Given the description of an element on the screen output the (x, y) to click on. 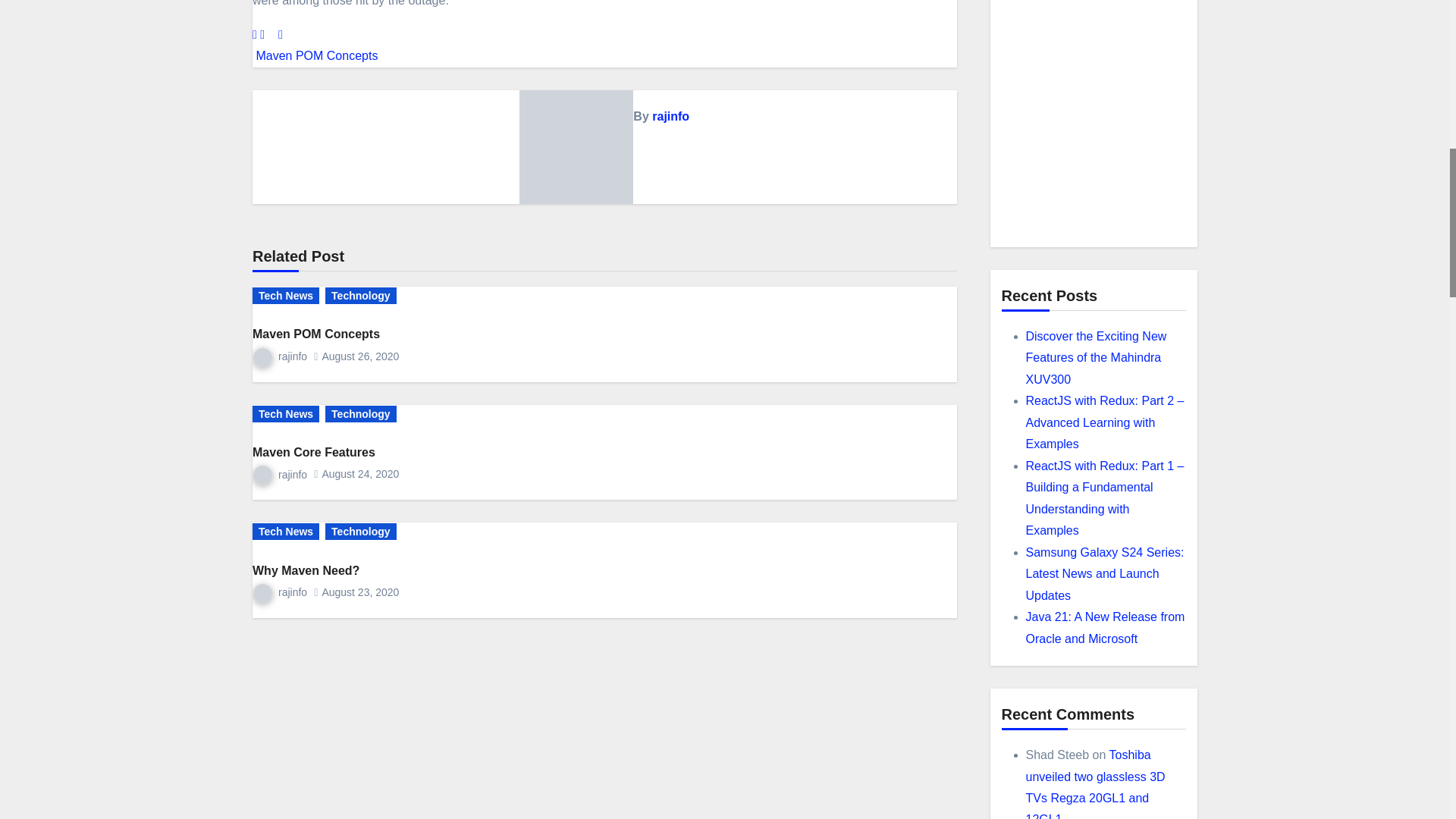
Permalink to: Maven Core Features (313, 451)
Maven POM Concepts (314, 55)
Permalink to: Why Maven Need? (305, 570)
rajinfo (670, 115)
Permalink to: Maven POM Concepts (315, 333)
